Given the description of an element on the screen output the (x, y) to click on. 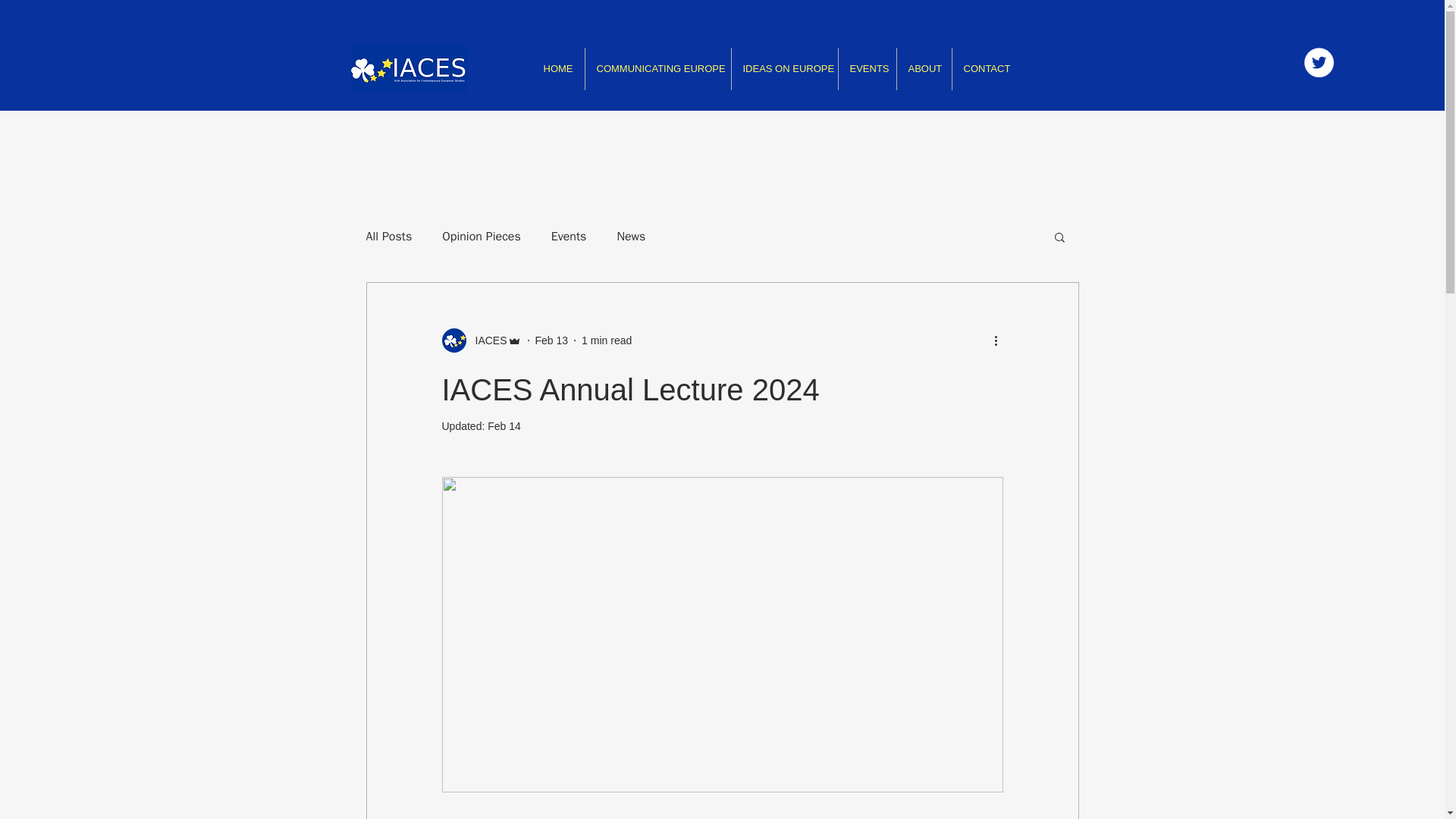
IACES (481, 340)
Feb 13 (552, 339)
News (630, 236)
All Posts (388, 236)
1 min read (605, 339)
CONTACT (984, 68)
EVENTS (867, 68)
COMMUNICATING EUROPE (657, 68)
Opinion Pieces (481, 236)
IACES (485, 340)
Events (568, 236)
Feb 14 (504, 426)
IDEAS ON EUROPE (783, 68)
HOME (558, 68)
